Given the description of an element on the screen output the (x, y) to click on. 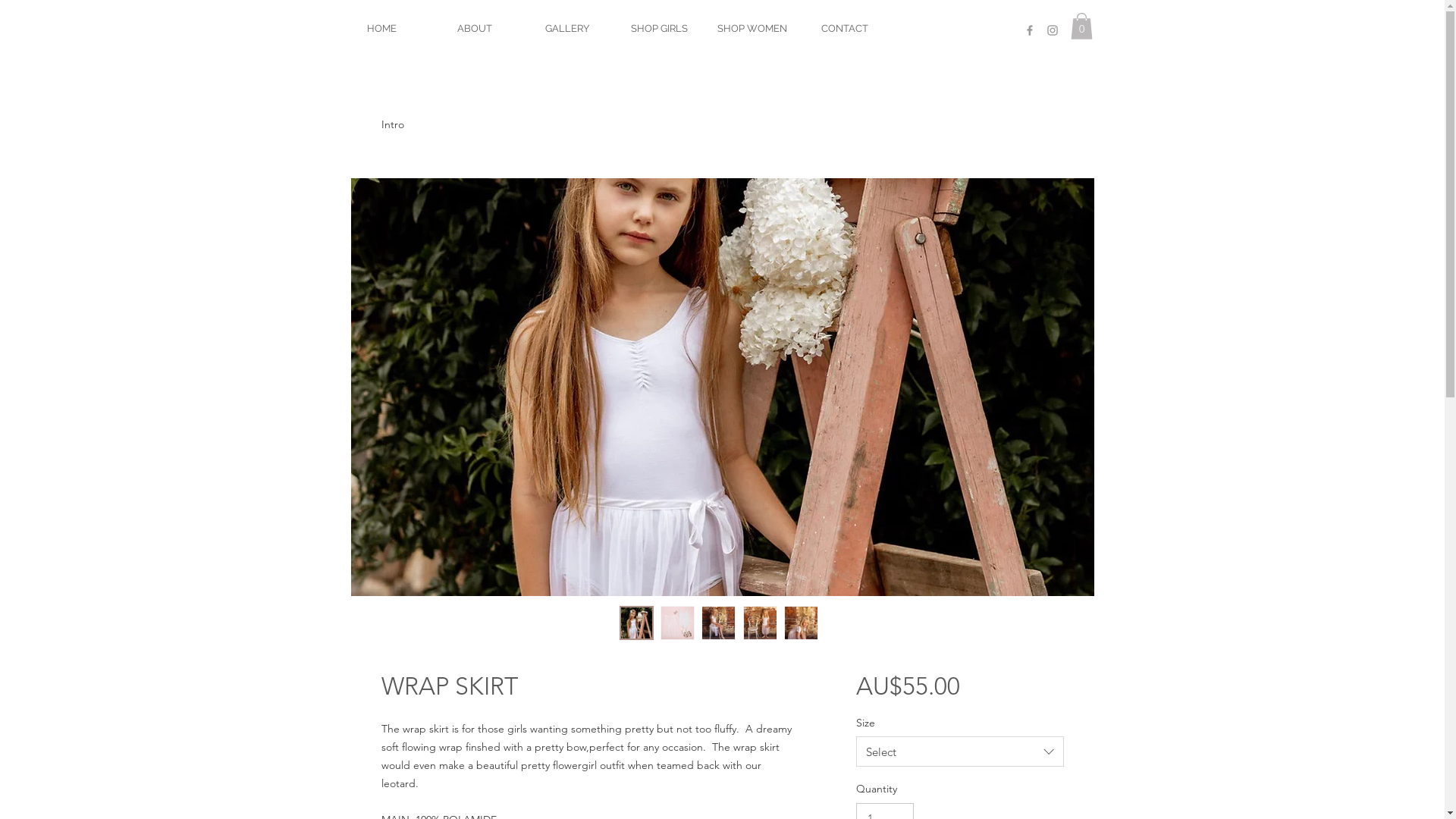
GALLERY Element type: text (566, 28)
HOME Element type: text (381, 28)
SHOP WOMEN Element type: text (751, 28)
0 Element type: text (1081, 25)
ABOUT Element type: text (473, 28)
Intro Element type: text (391, 124)
Select Element type: text (959, 751)
CONTACT Element type: text (843, 28)
